Given the description of an element on the screen output the (x, y) to click on. 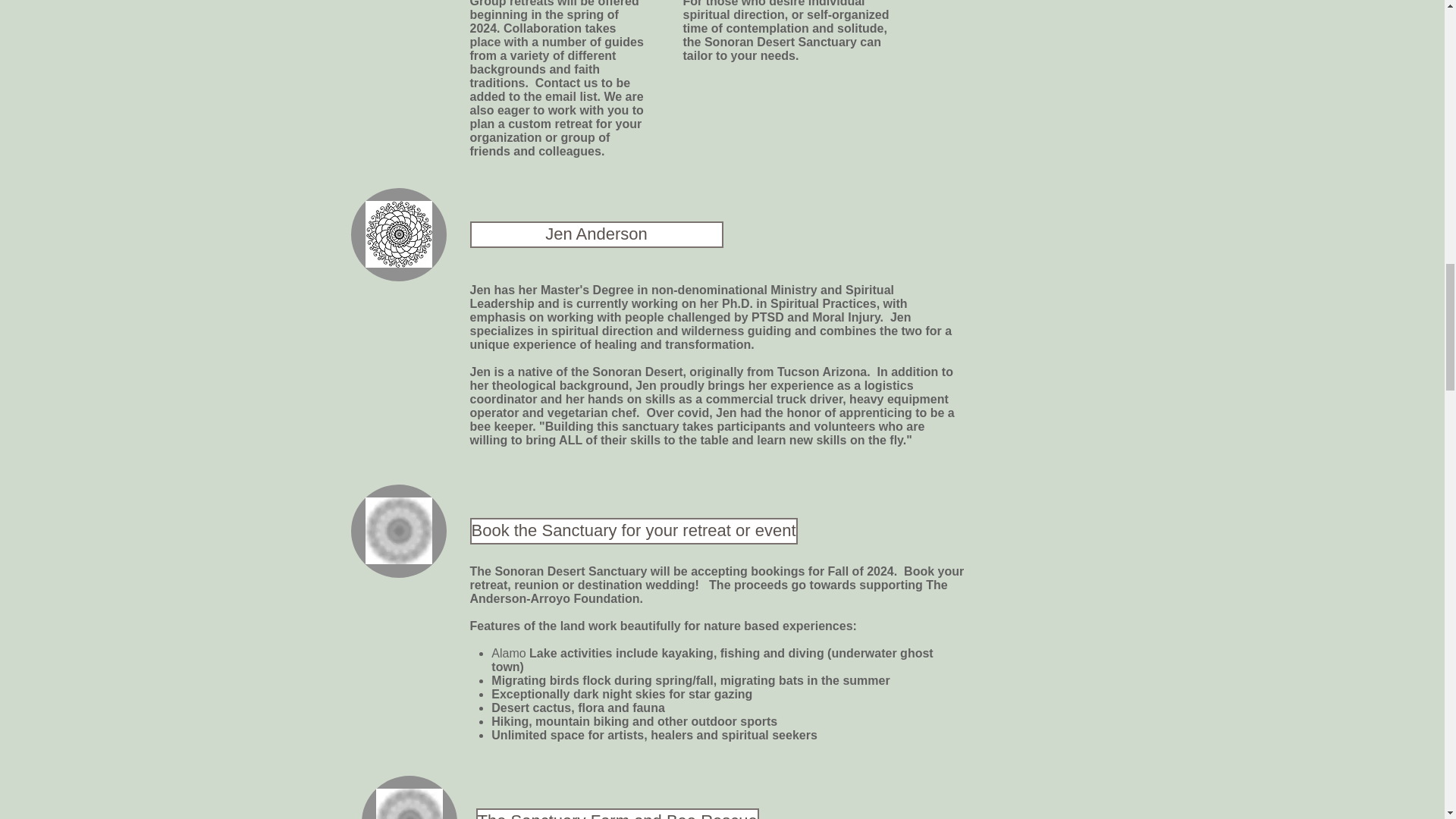
Book the Sanctuary for your retreat or event (633, 530)
Jen Anderson (596, 234)
The Sanctuary Farm and Bee Rescue (617, 813)
